Given the description of an element on the screen output the (x, y) to click on. 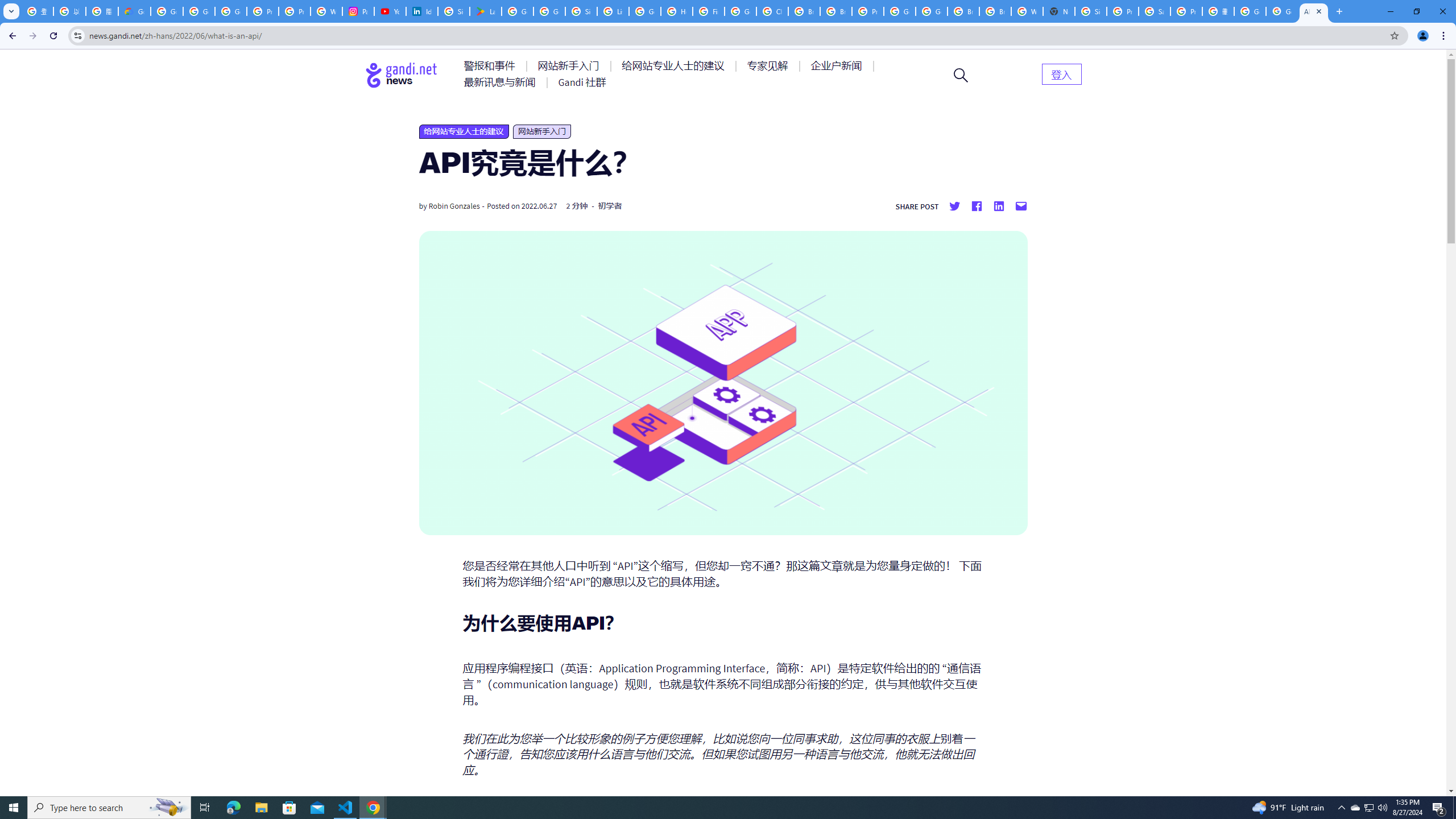
Google Workspace - Specific Terms (549, 11)
Privacy Help Center - Policies Help (294, 11)
Sign in - Google Accounts (1091, 11)
AutomationID: menu-item-77766 (502, 82)
